Given the description of an element on the screen output the (x, y) to click on. 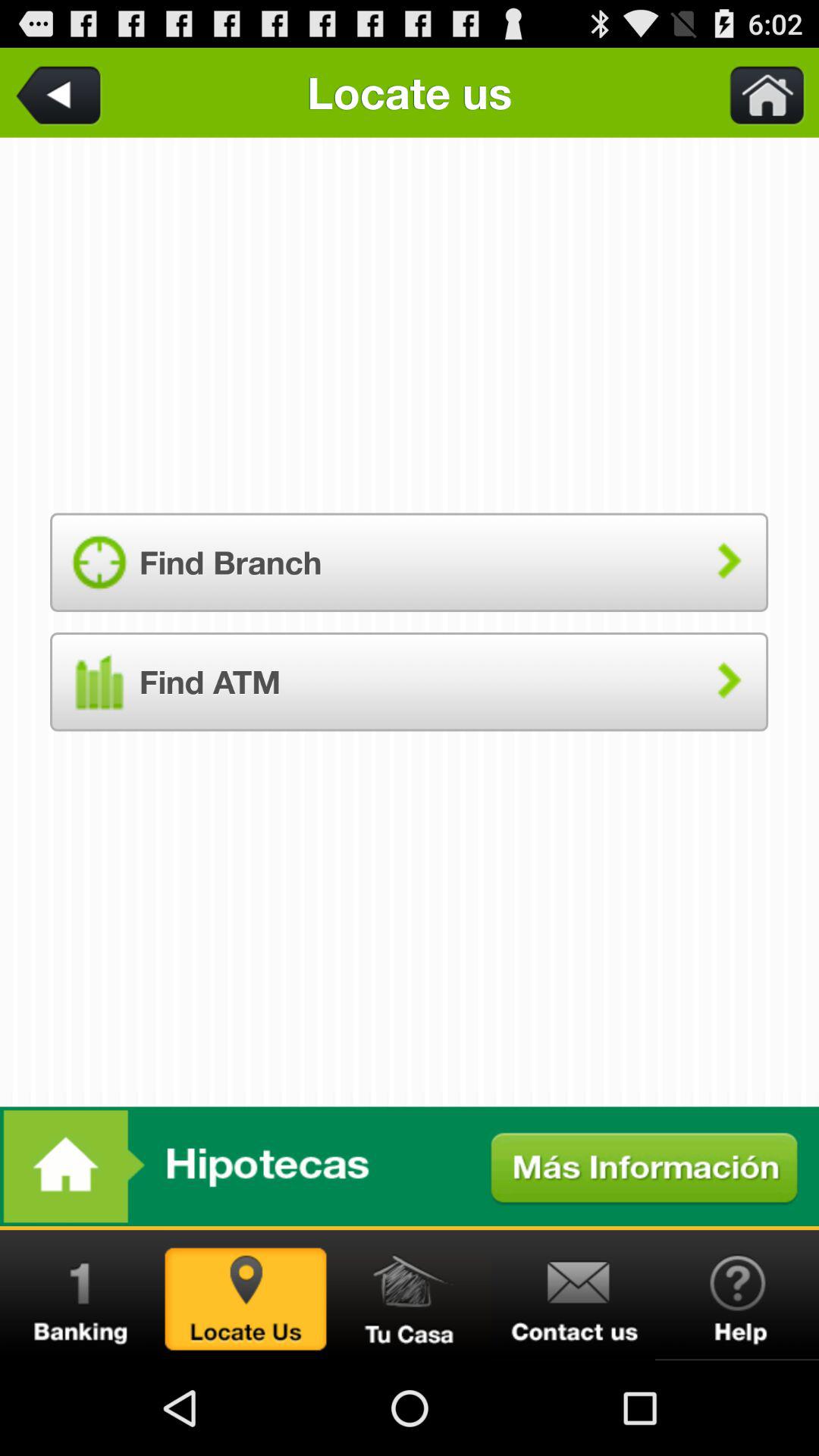
previous screen (61, 92)
